Given the description of an element on the screen output the (x, y) to click on. 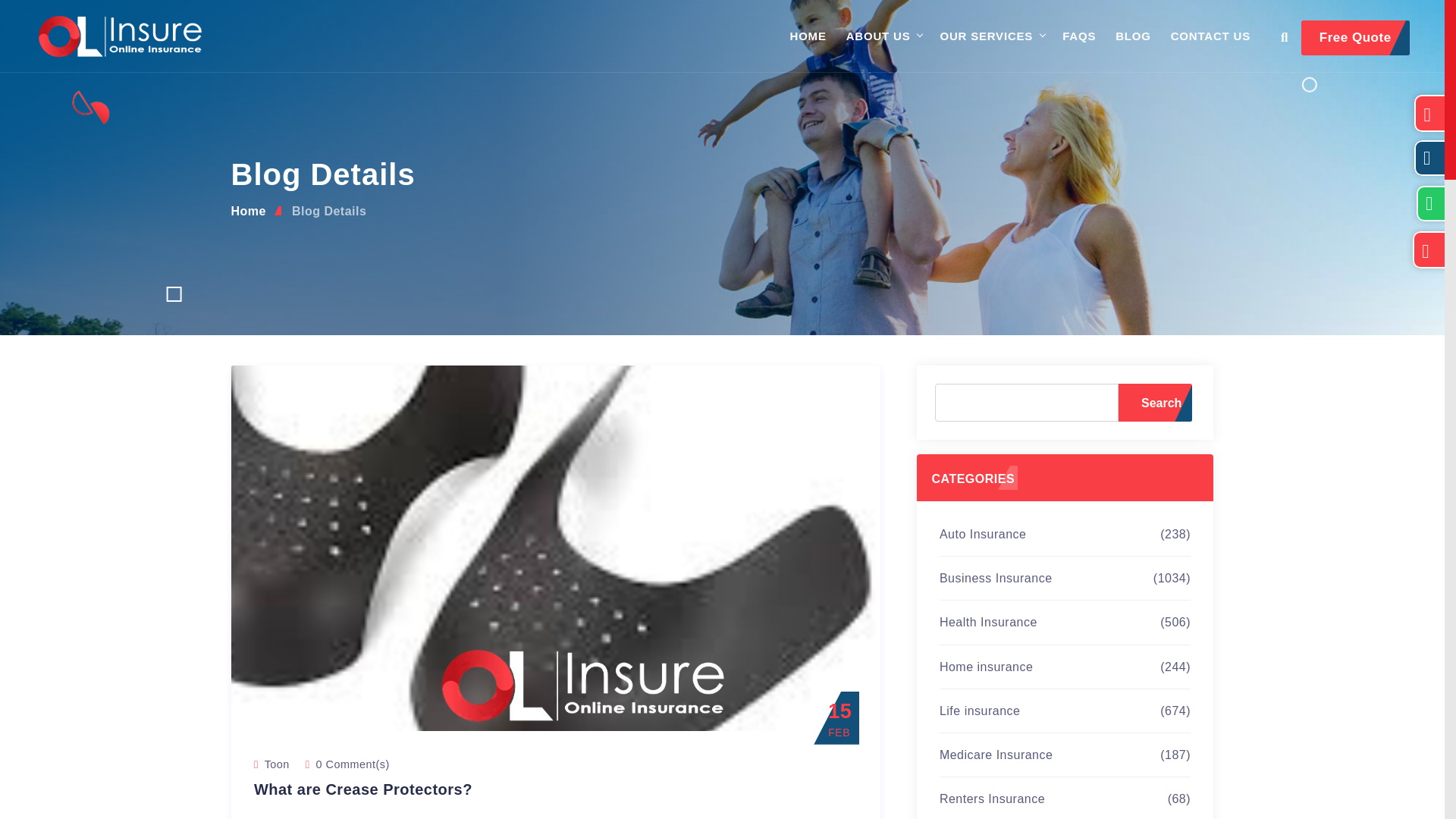
BLOG (1133, 36)
ABOUT US (878, 36)
HOME (808, 36)
Free Quote (1355, 38)
Posts by toon (276, 764)
Blog Details (329, 210)
Toon (276, 764)
CONTACT US (1210, 36)
OUR SERVICES (986, 36)
FAQS (1079, 36)
Home (247, 210)
